Given the description of an element on the screen output the (x, y) to click on. 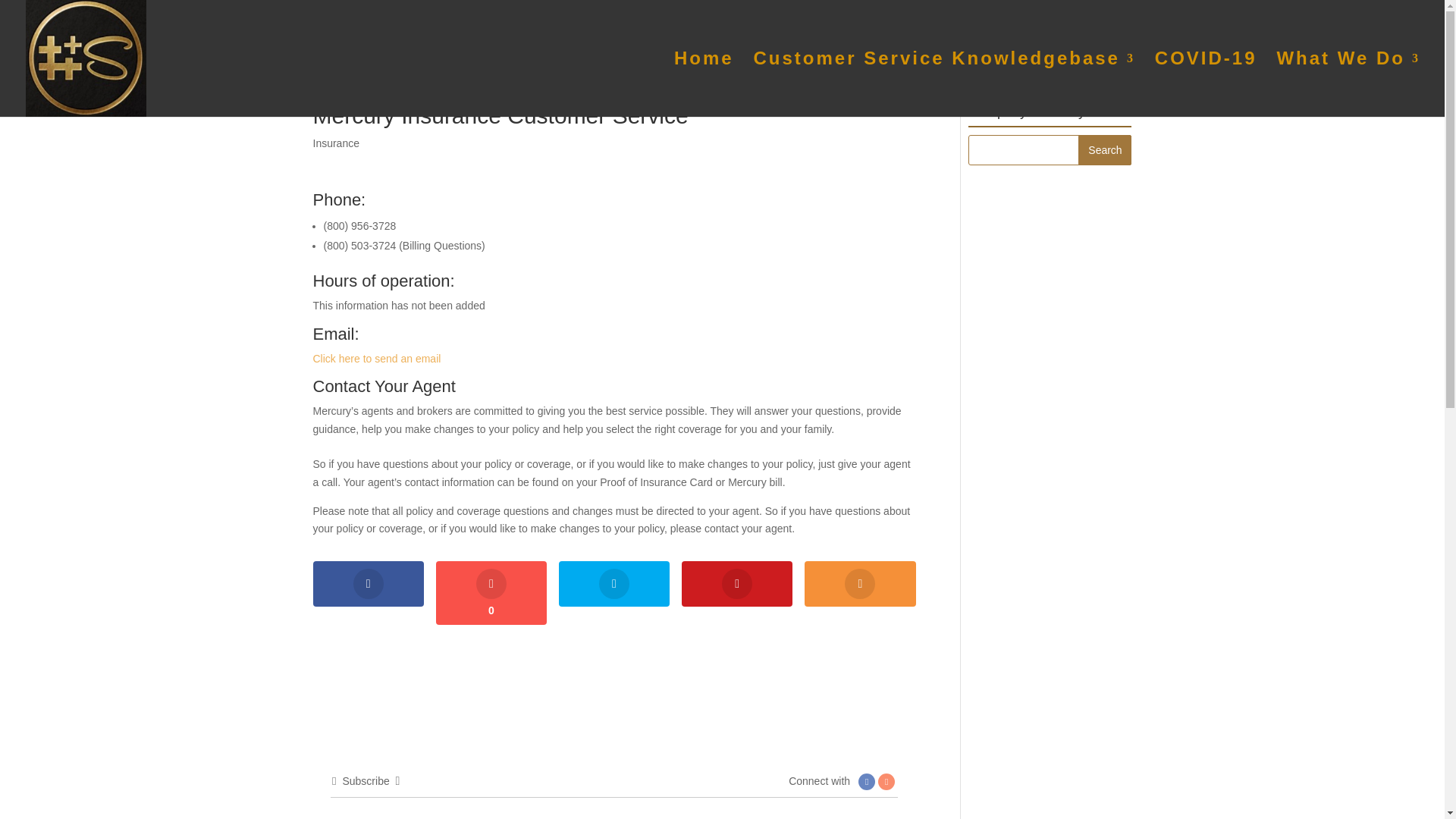
Insurance (335, 143)
Click here to send an email (377, 358)
Customer Service Knowledgebase (944, 85)
Search (1104, 150)
0 (491, 592)
What We Do (1348, 85)
COVID-19 (1205, 85)
Home (703, 85)
